Given the description of an element on the screen output the (x, y) to click on. 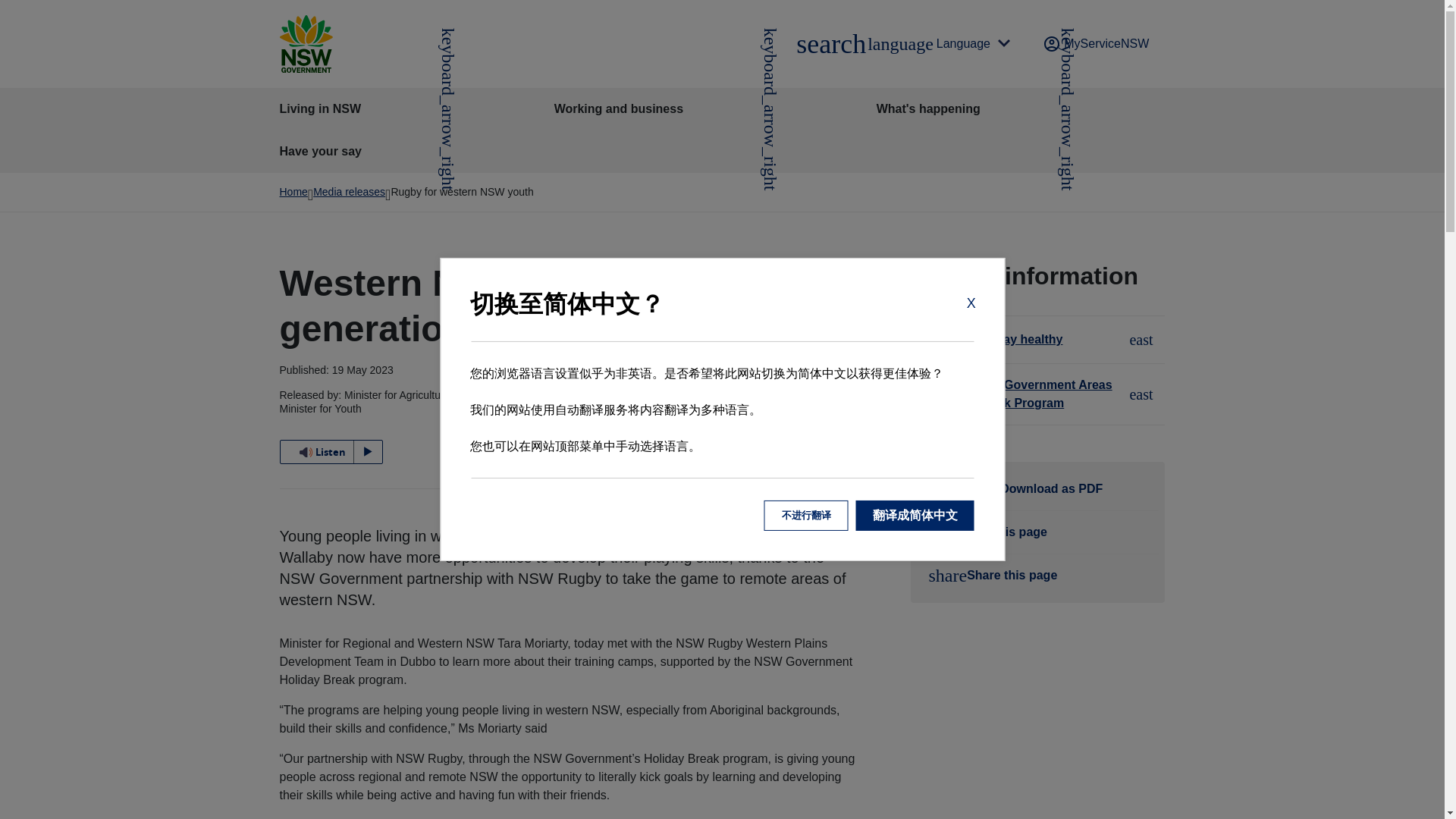
Listen to this page using ReadSpeaker webReader (938, 43)
